Given the description of an element on the screen output the (x, y) to click on. 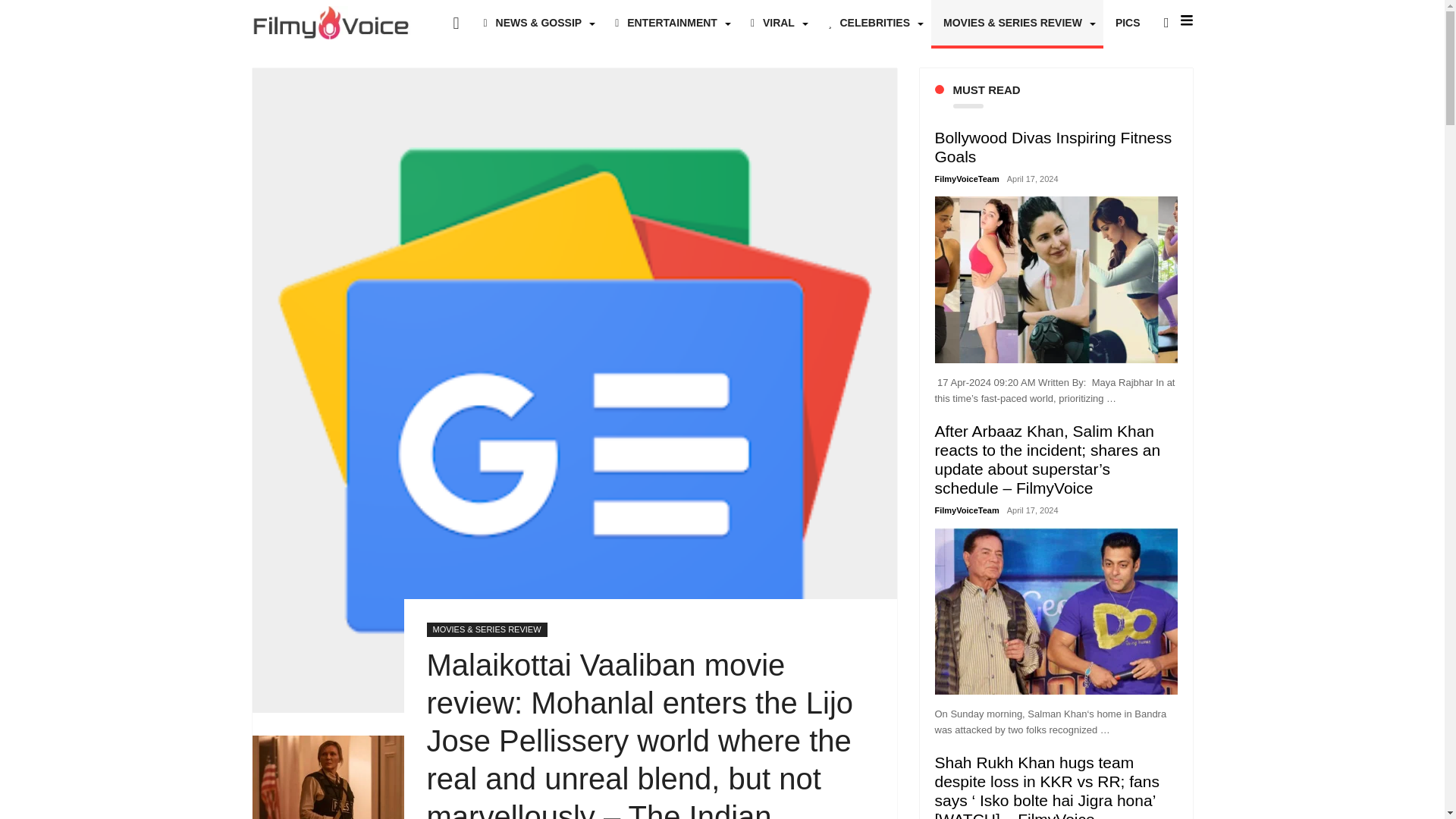
CELEBRITIES (873, 22)
VIRAL (776, 22)
ENTERTAINMENT (670, 22)
